Given the description of an element on the screen output the (x, y) to click on. 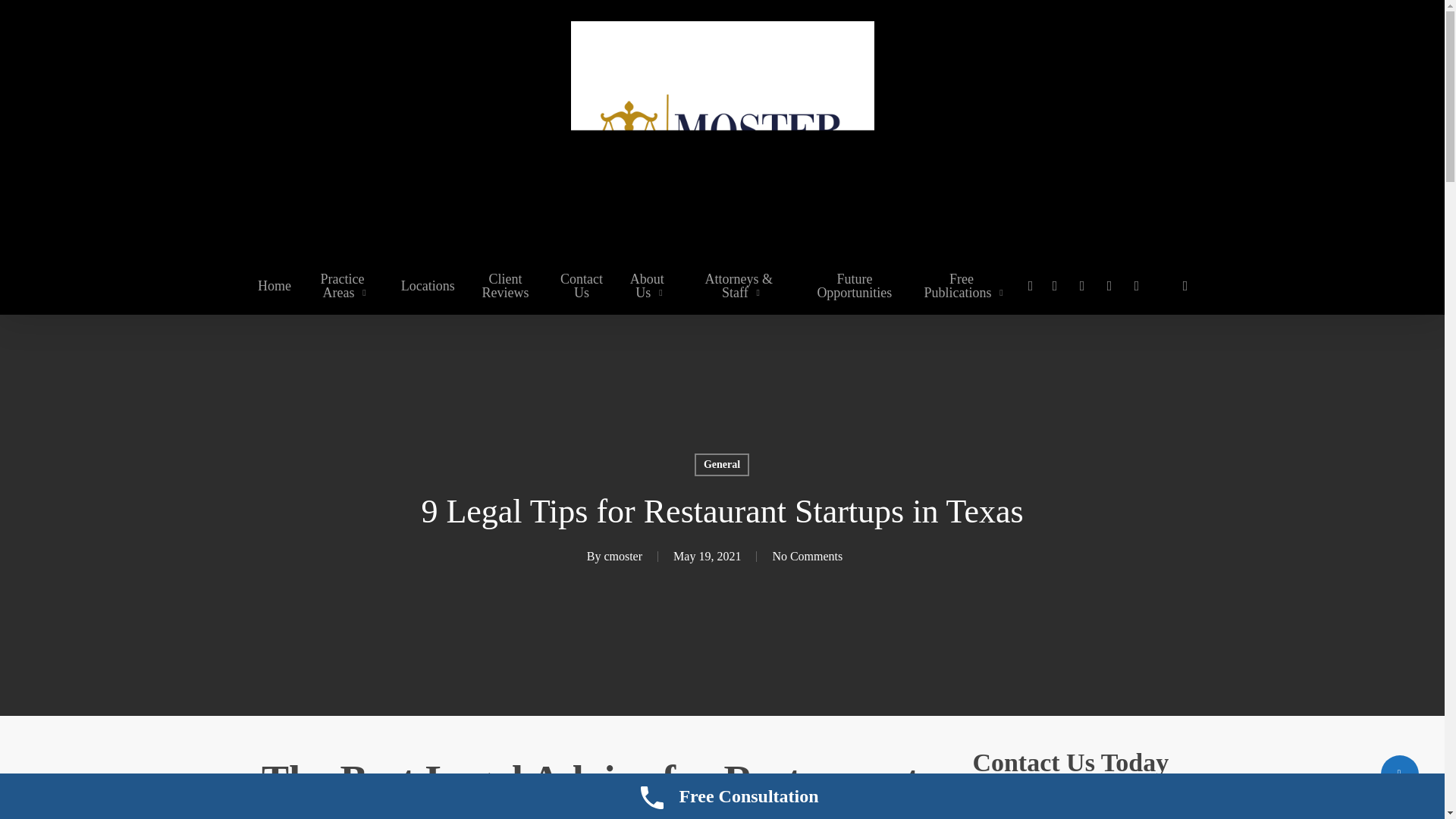
Practice Areas (345, 285)
Home (274, 285)
Posts by cmoster (623, 555)
